Given the description of an element on the screen output the (x, y) to click on. 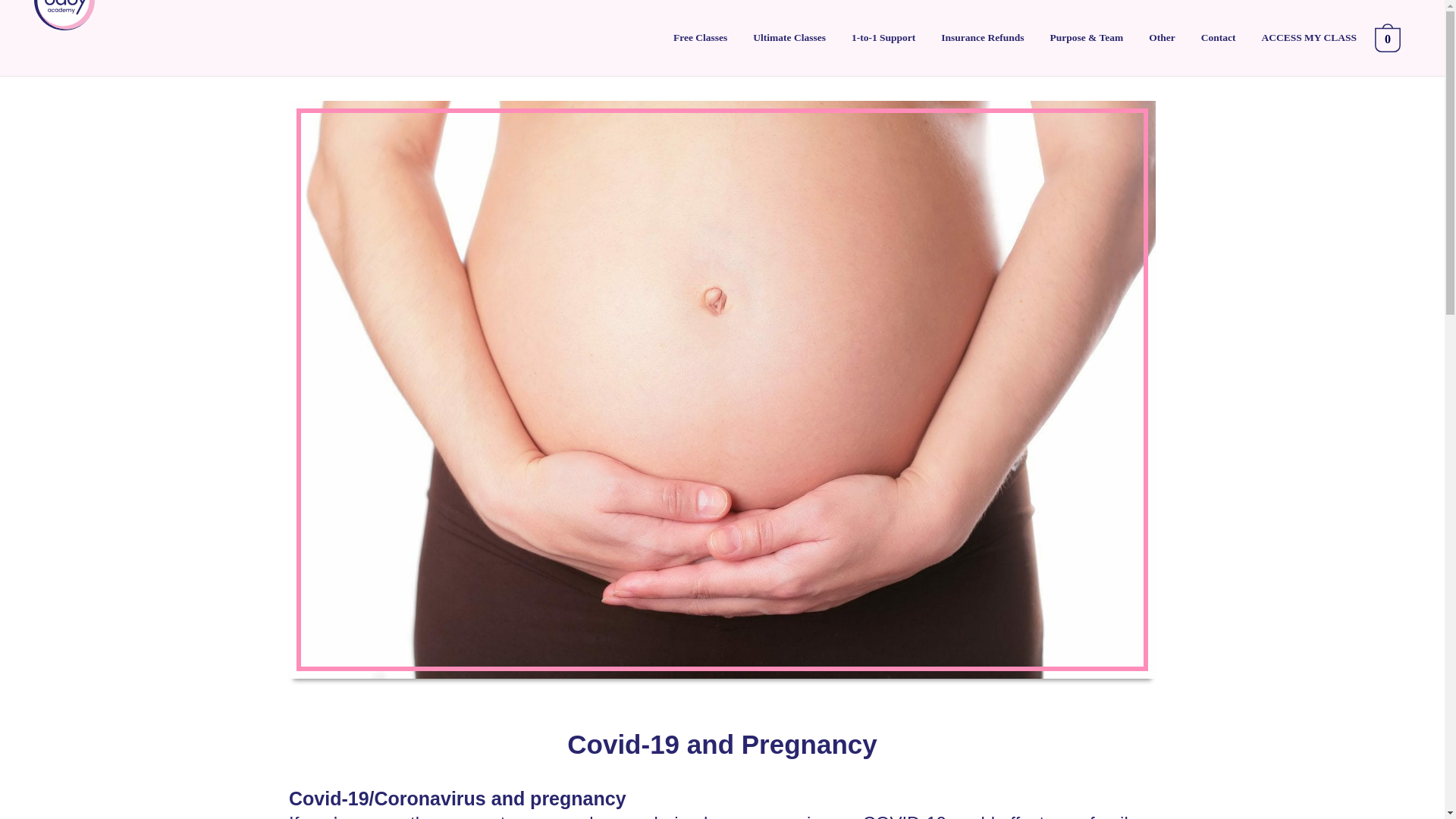
Free Classes (700, 38)
ACCESS MY CLASS (1308, 38)
1-to-1 Support (883, 38)
0 (1390, 37)
Ultimate Classes (788, 38)
Insurance Refunds (982, 38)
